Given the description of an element on the screen output the (x, y) to click on. 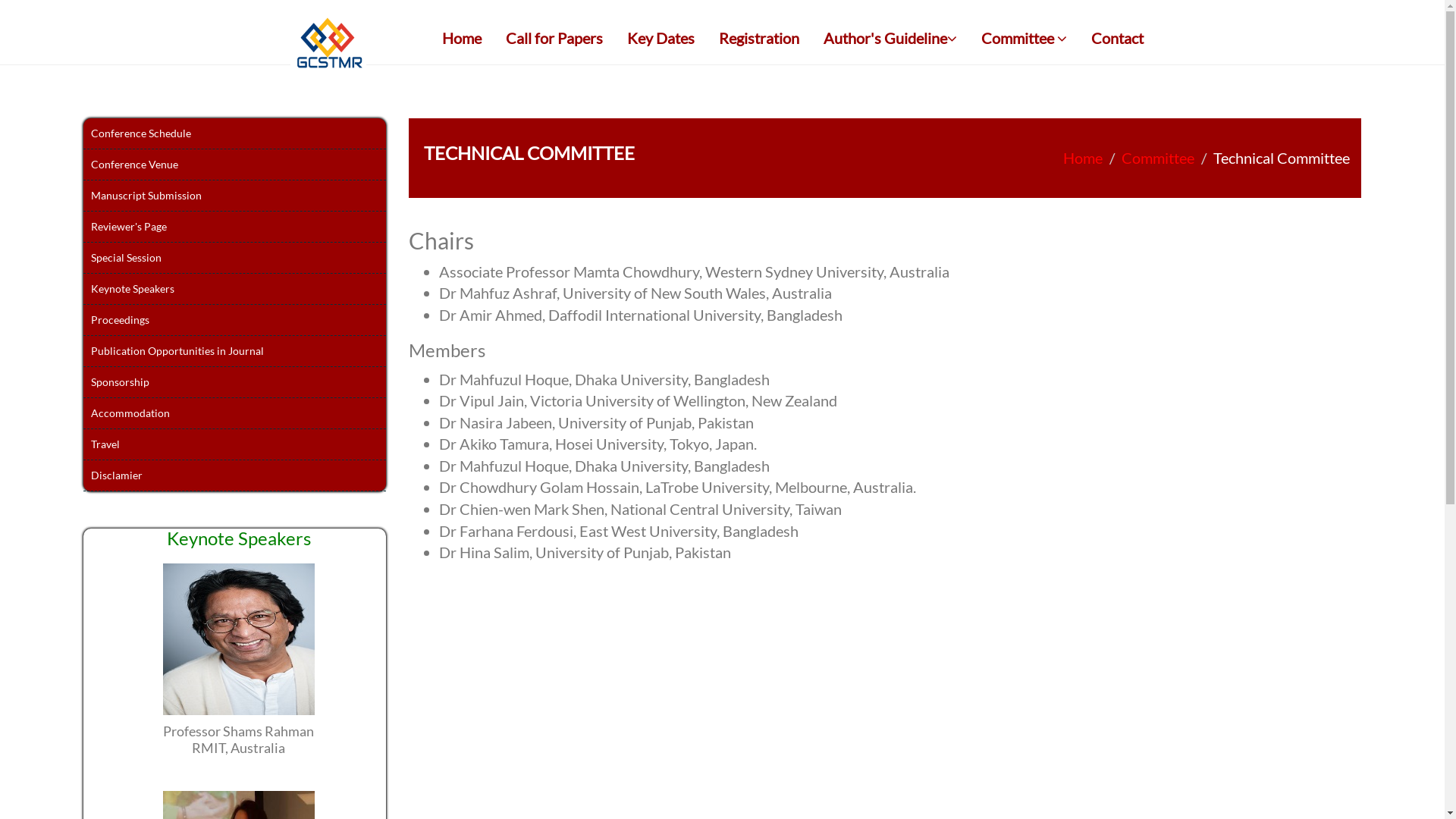
Contact Element type: text (1116, 37)
Disclamier Element type: text (234, 475)
Key Dates Element type: text (660, 37)
Reviewer's Page Element type: text (234, 226)
Home Element type: text (461, 37)
Author's Guideline Element type: text (889, 37)
Manuscript Submission Element type: text (234, 195)
Special Session Element type: text (234, 257)
Sponsorship Element type: text (234, 382)
Publication Opportunities in Journal Element type: text (234, 351)
Conference Schedule Element type: text (234, 133)
Call for Papers Element type: text (554, 37)
Keynote Speakers Element type: text (234, 288)
Registration Element type: text (757, 37)
Home Element type: text (1082, 157)
Accommodation Element type: text (234, 413)
Travel Element type: text (234, 444)
Committee Element type: text (1023, 37)
Conference Venue Element type: text (234, 164)
Proceedings Element type: text (234, 319)
Committee Element type: text (1157, 157)
